Given the description of an element on the screen output the (x, y) to click on. 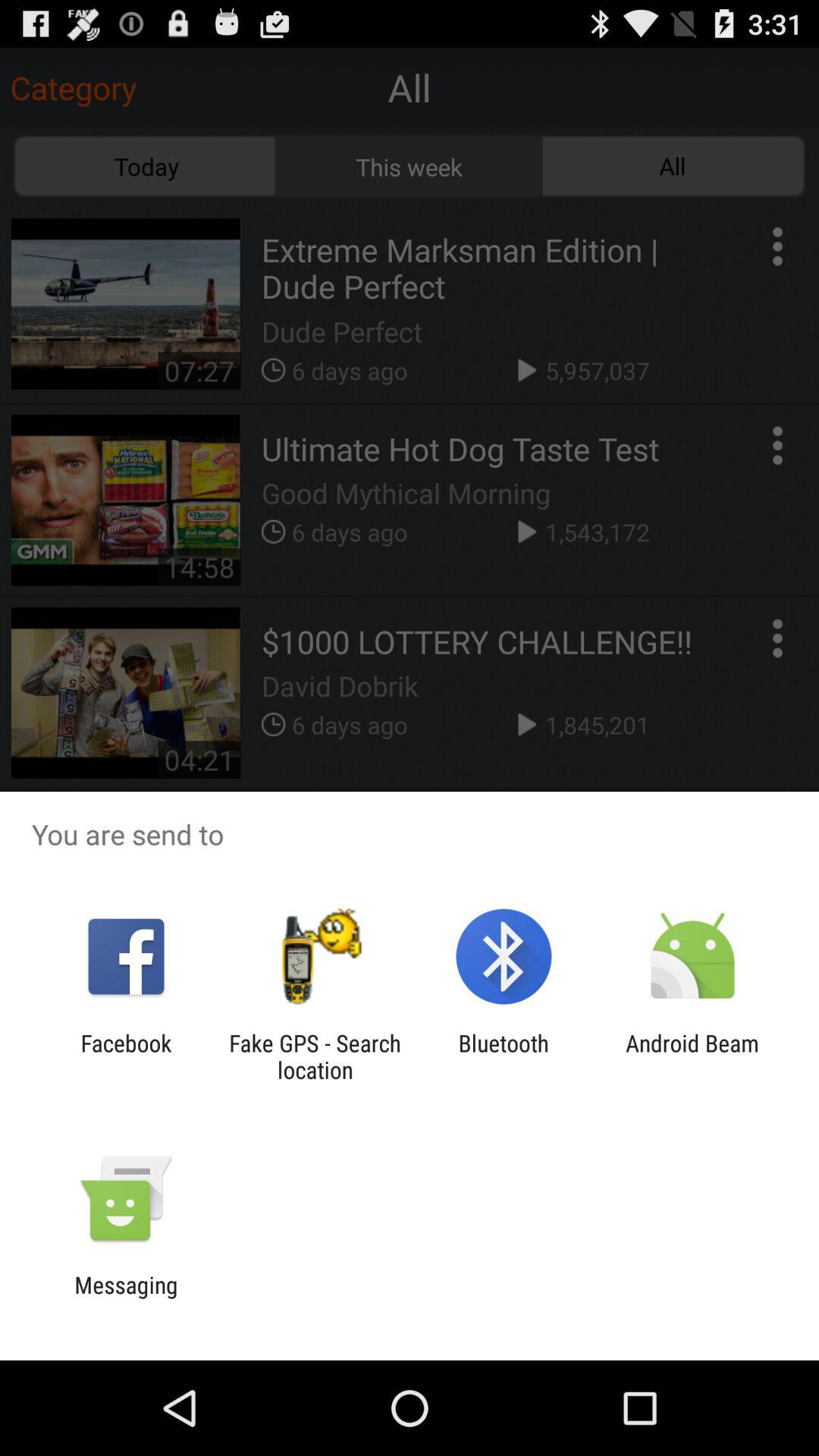
tap the item to the right of bluetooth app (692, 1056)
